Given the description of an element on the screen output the (x, y) to click on. 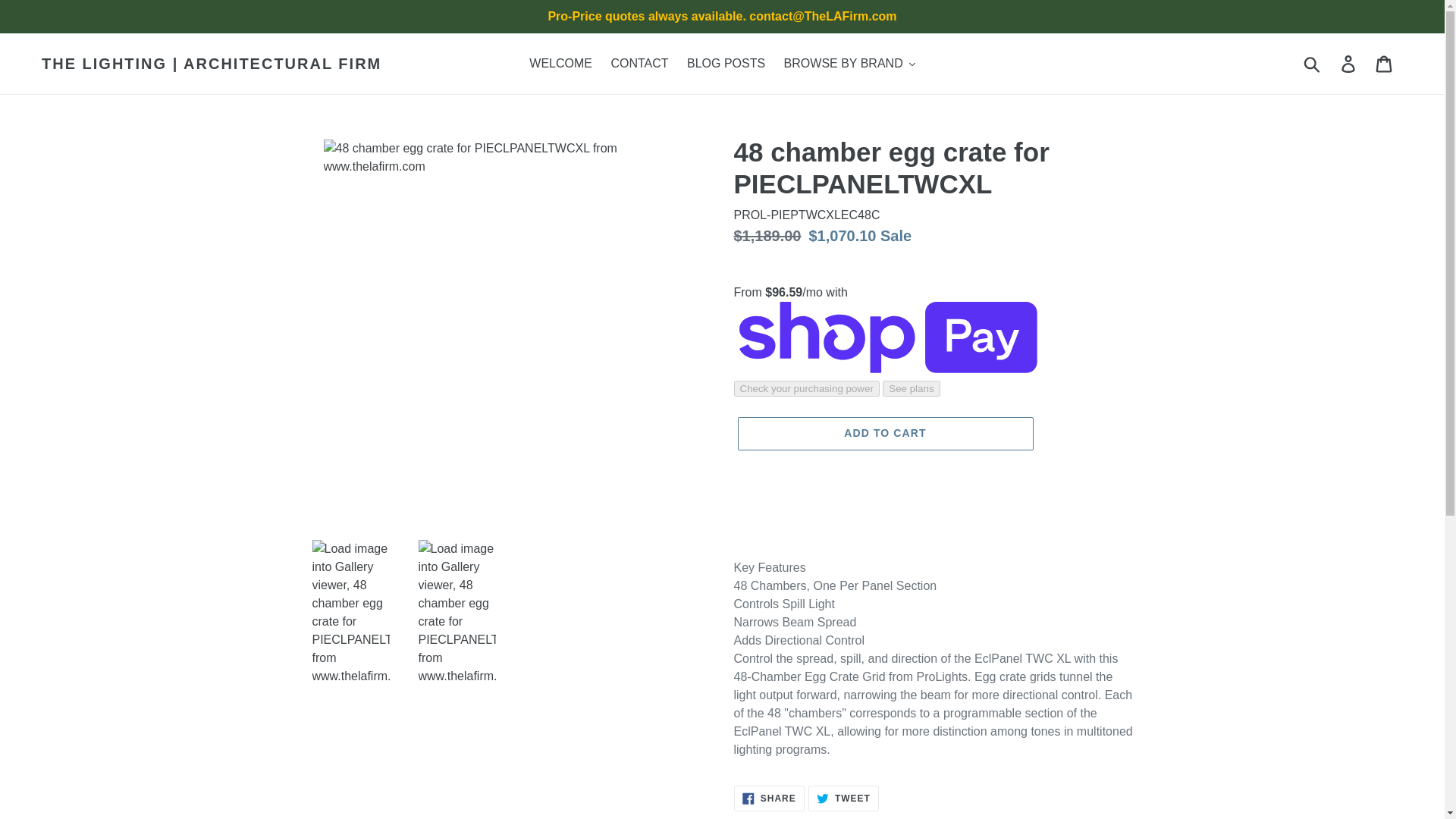
WELCOME (560, 63)
CONTACT (638, 63)
BLOG POSTS (726, 63)
